Given the description of an element on the screen output the (x, y) to click on. 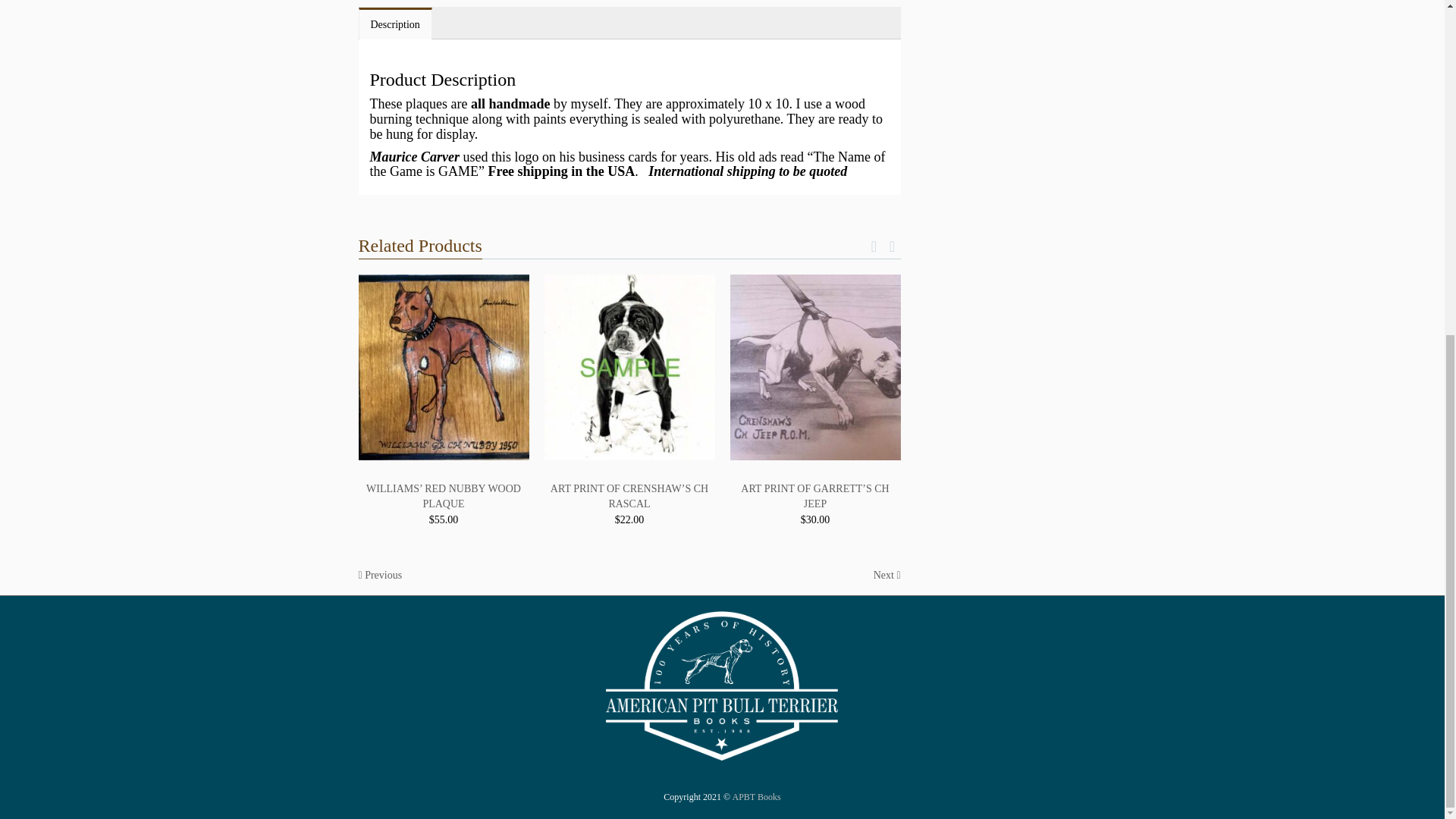
Description (394, 24)
